Given the description of an element on the screen output the (x, y) to click on. 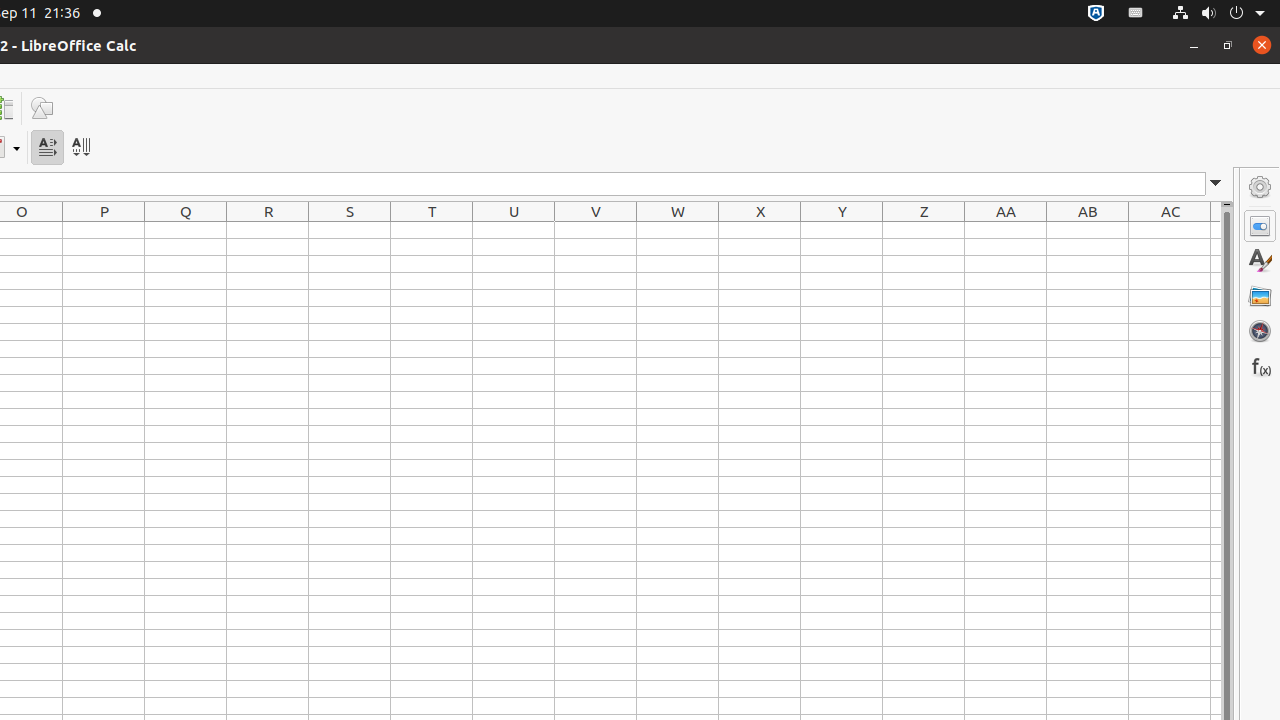
AB1 Element type: table-cell (1088, 230)
W1 Element type: table-cell (678, 230)
X1 Element type: table-cell (760, 230)
Draw Functions Element type: toggle-button (41, 108)
